Given the description of an element on the screen output the (x, y) to click on. 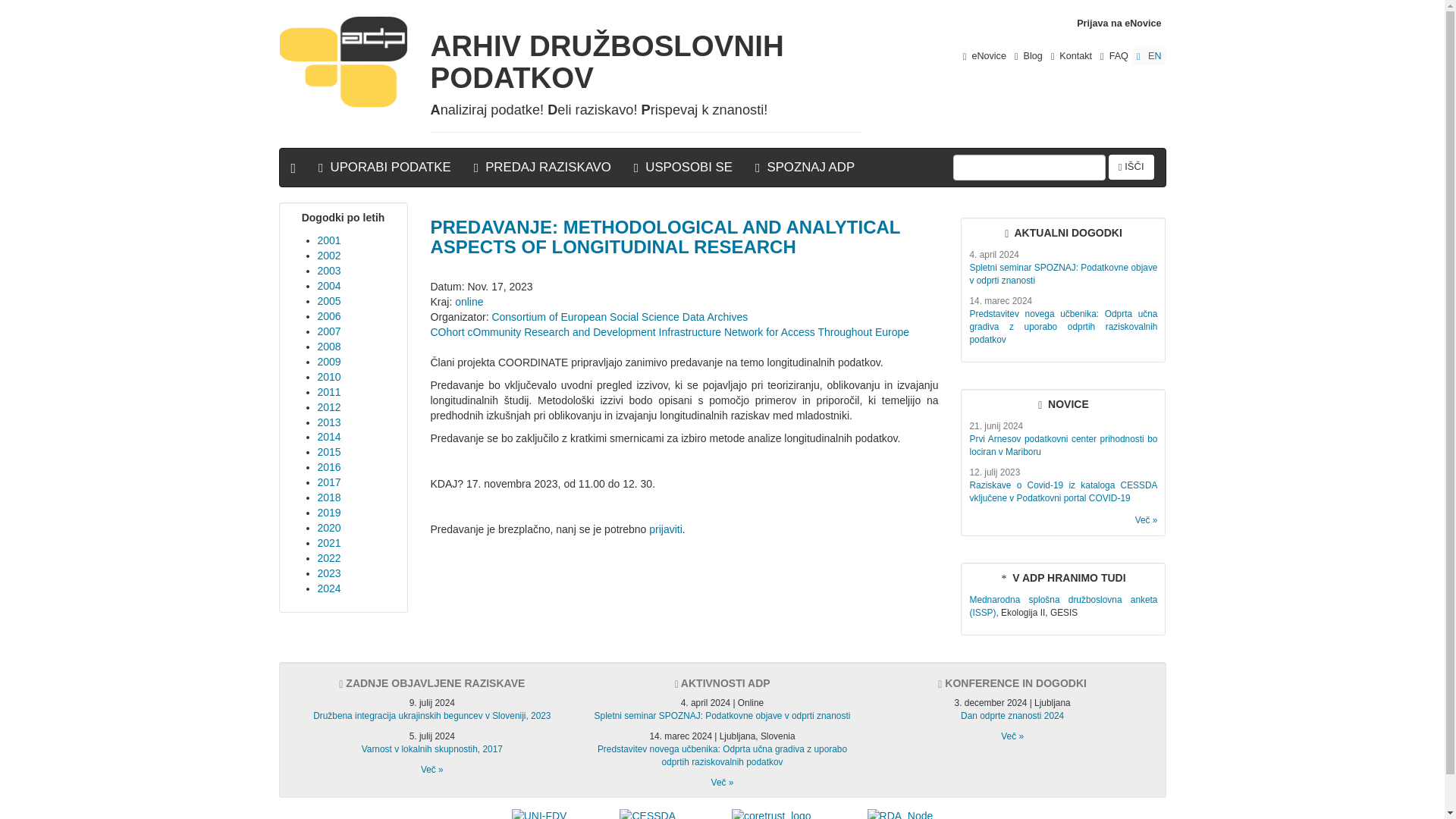
Arhiv konferenc in dogodkov (1012, 736)
  FAQ (1114, 56)
  Blog (1028, 55)
   EN (1149, 56)
Where is online -- Google Maps (468, 301)
Vse novice (1146, 520)
Prijava na eNovice (1118, 23)
Poglej podrobnosti o raziskavi (1063, 606)
  UPORABI PODATKE (385, 167)
Arhiv raziskav (432, 769)
  eNovice (984, 55)
  Kontakt (1071, 56)
  Kontakt (1071, 55)
  FAQ (1114, 55)
  Blog (1028, 56)
